Given the description of an element on the screen output the (x, y) to click on. 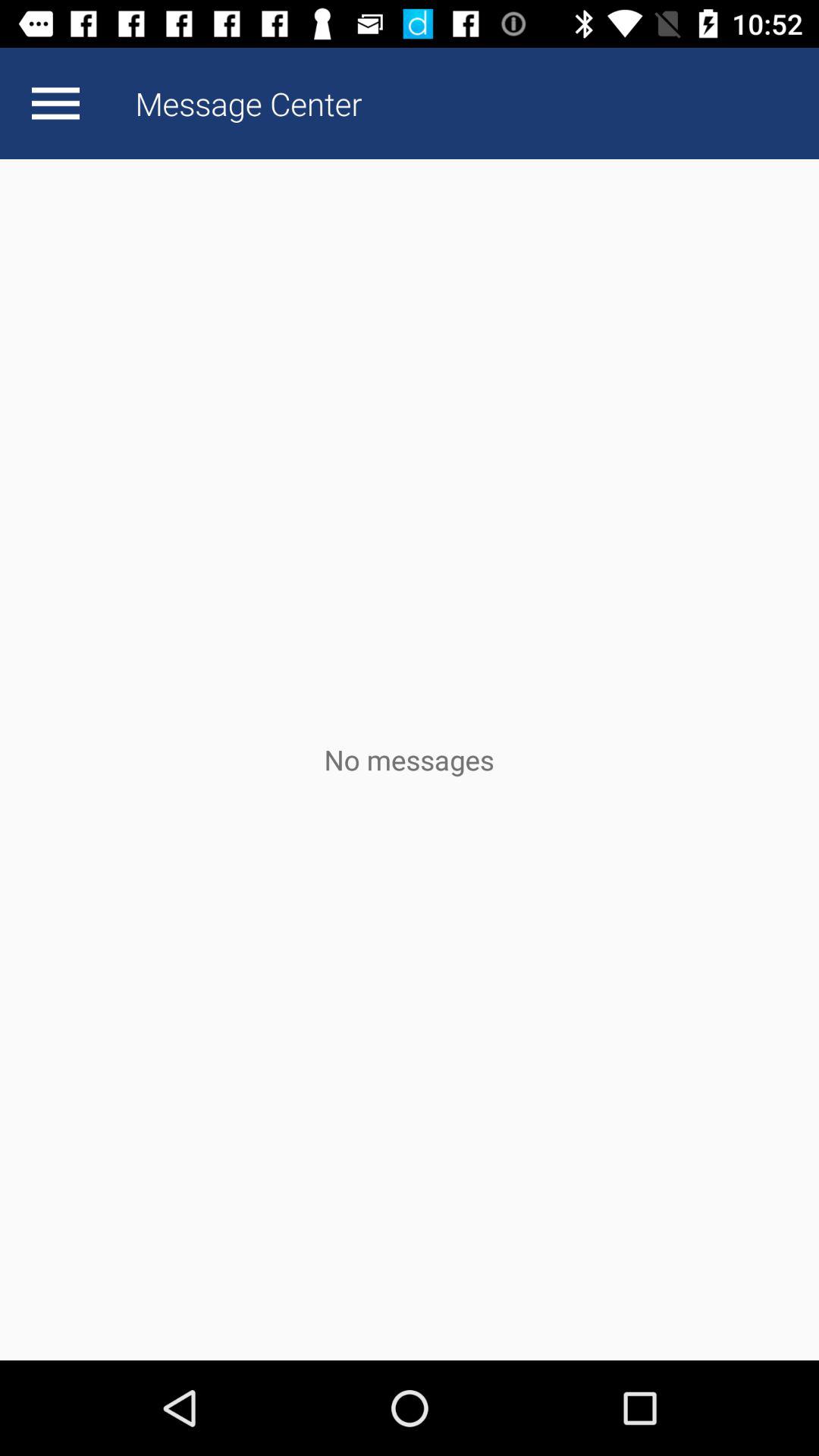
press the app to the left of message center app (55, 103)
